Given the description of an element on the screen output the (x, y) to click on. 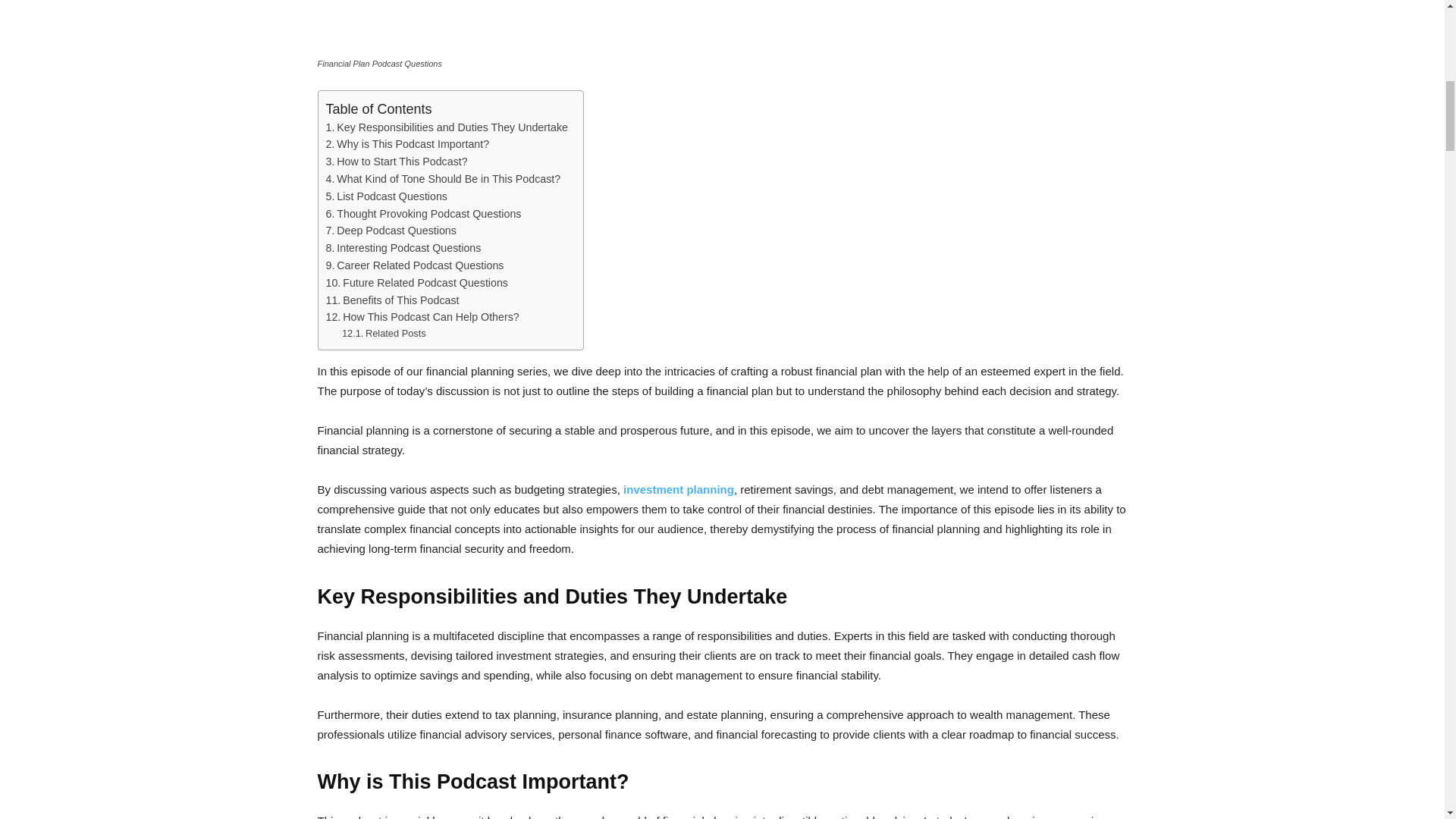
How to Start This Podcast? (396, 161)
Why is This Podcast Important? (407, 144)
Key Responsibilities and Duties They Undertake (446, 127)
